Given the description of an element on the screen output the (x, y) to click on. 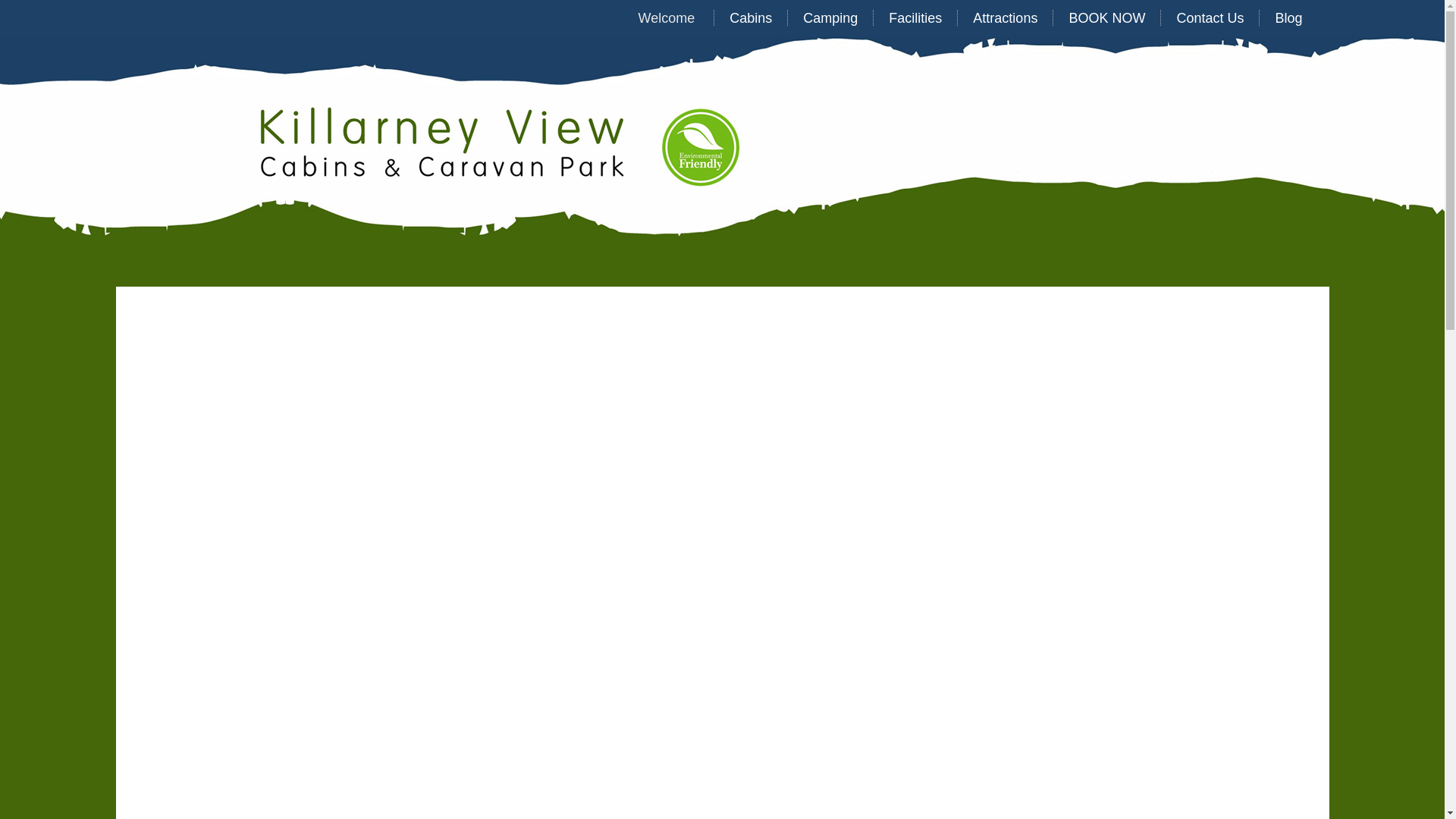
BOOK NOW Element type: text (1106, 17)
Attractions Element type: text (1004, 17)
Phone: 0493 076 198 Element type: text (1217, 255)
Blog Element type: text (1288, 17)
Facilities Element type: text (915, 17)
Contact Us Element type: text (1209, 17)
Camping Element type: text (830, 17)
Welcome  Element type: text (668, 17)
Cabins Element type: text (750, 17)
